Given the description of an element on the screen output the (x, y) to click on. 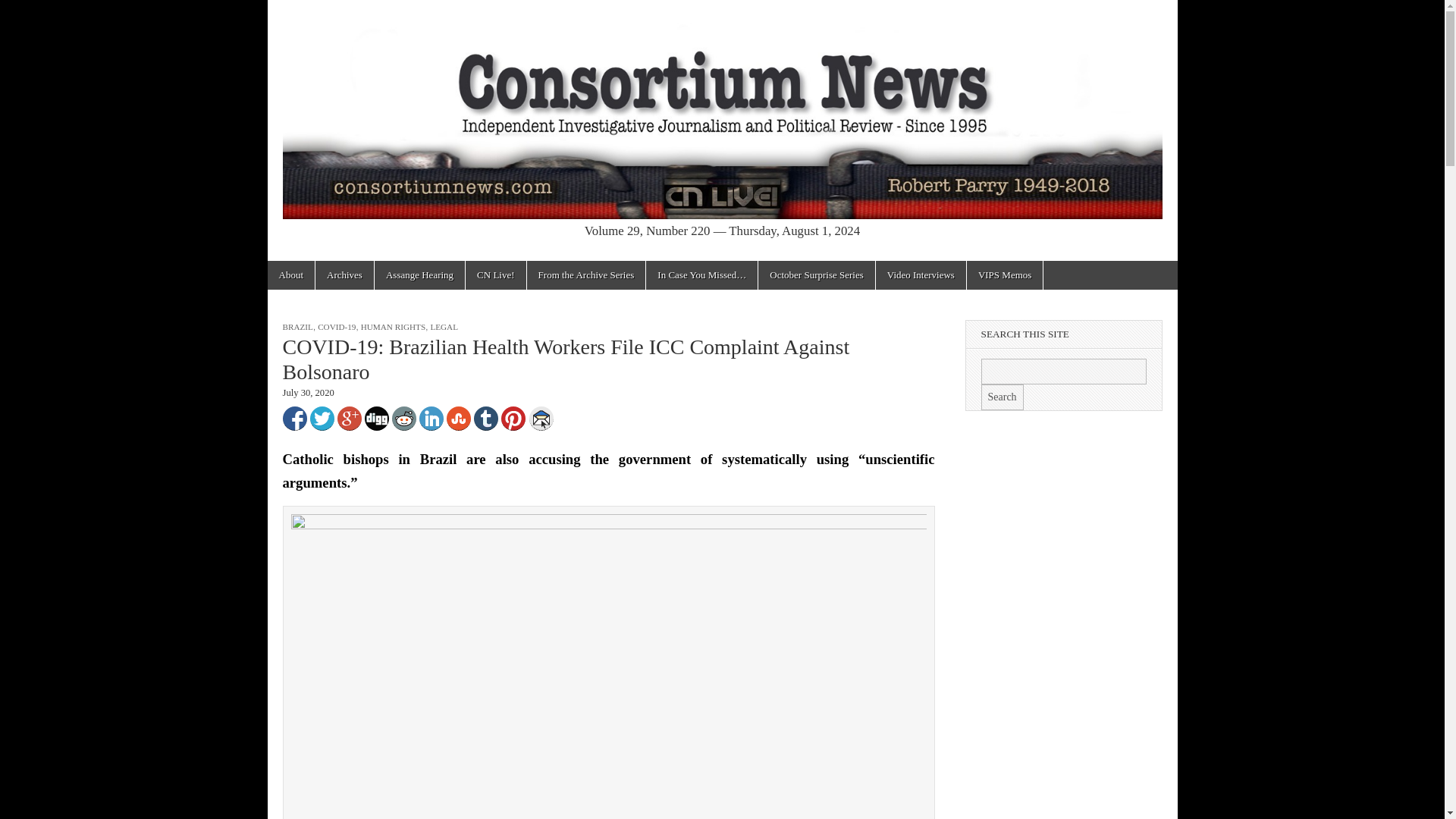
VIPS Memos (1004, 275)
Share to StumbleUpon (457, 418)
Search (1002, 397)
Share to Facebook (293, 418)
Assange Hearing (419, 275)
From the Archive Series (586, 275)
BRAZIL (297, 326)
Share to Google Plus (348, 418)
